Given the description of an element on the screen output the (x, y) to click on. 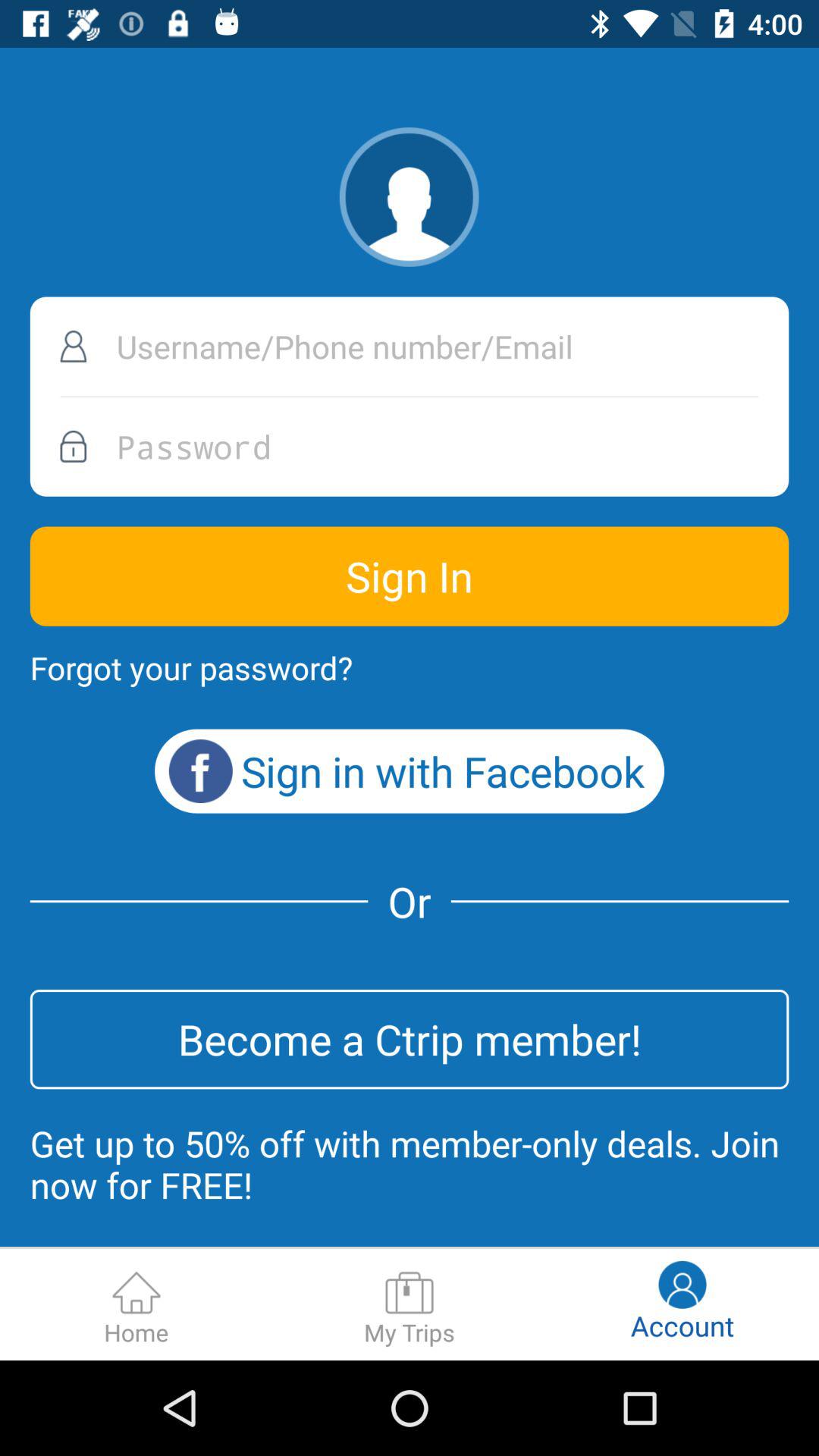
swipe to the become a ctrip icon (409, 1039)
